Given the description of an element on the screen output the (x, y) to click on. 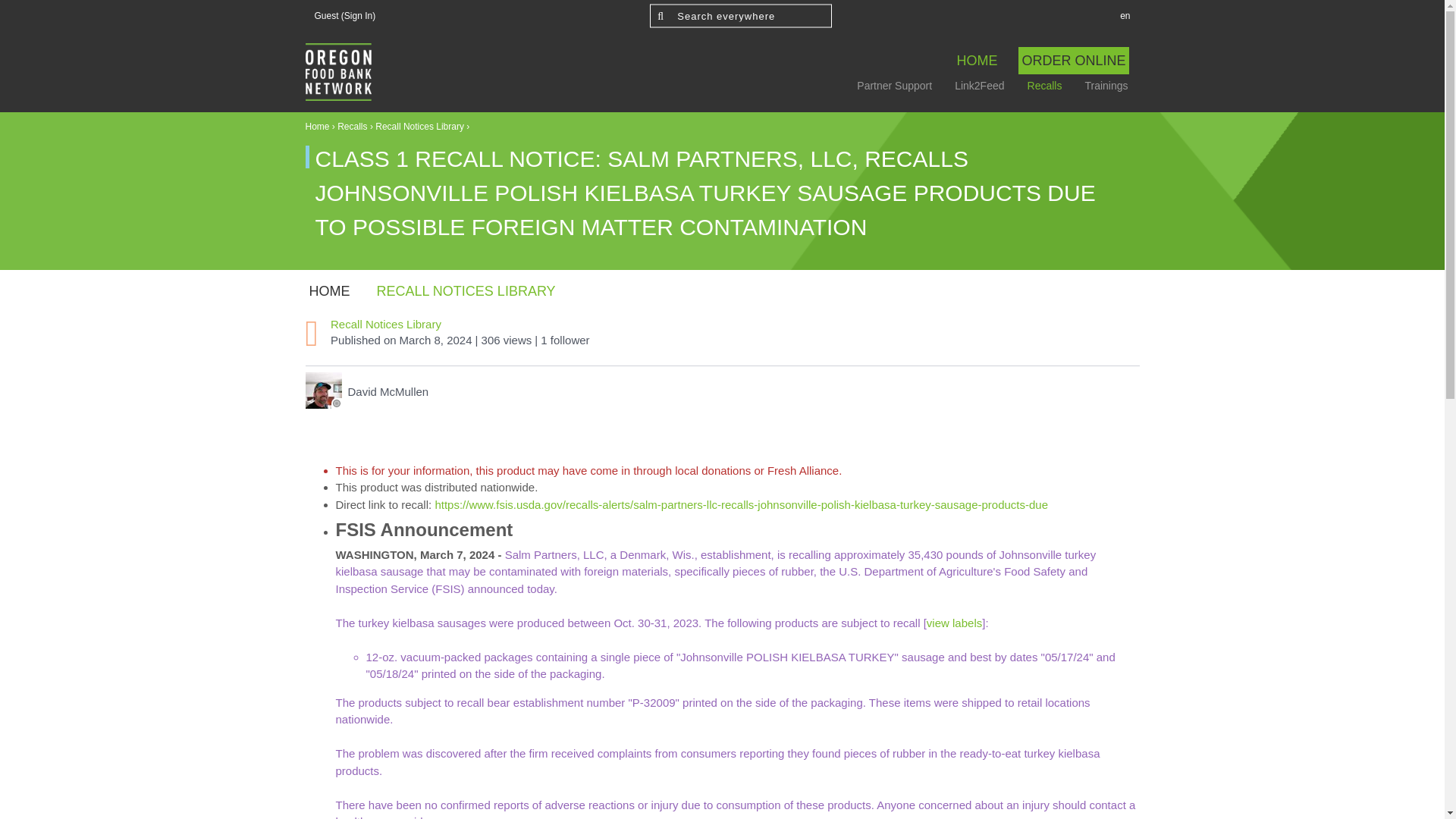
Link2Feed (978, 85)
Recall Notices Library (465, 291)
Link2Feed (978, 85)
Trainings (1105, 85)
Recalls (1045, 85)
view labels (953, 622)
Home (976, 60)
OFB Portals (337, 71)
ORDER ONLINE (1072, 60)
2024-03-08 7:35AM (434, 339)
